Given the description of an element on the screen output the (x, y) to click on. 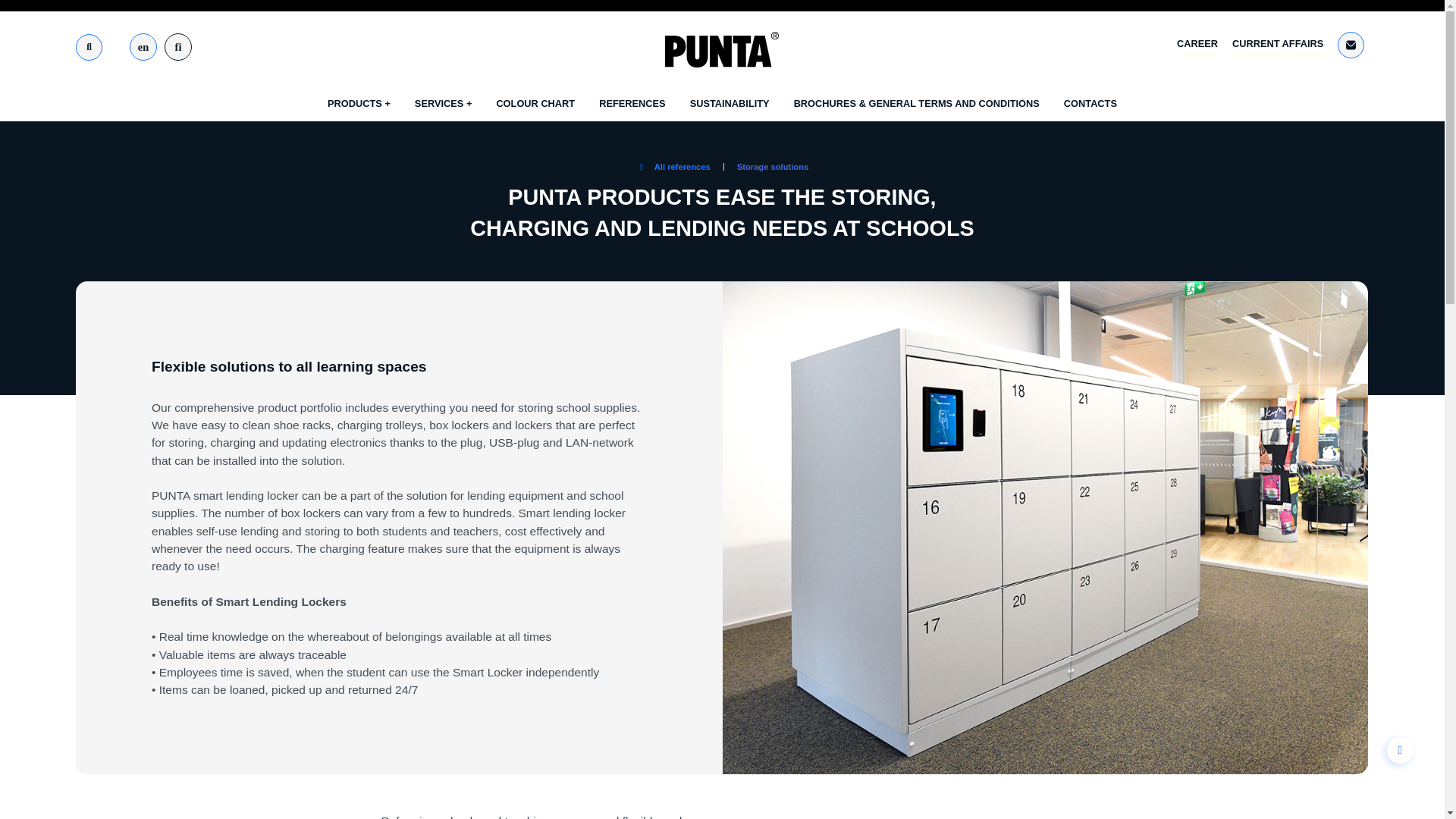
All references (673, 166)
COLOUR CHART (535, 103)
CAREER (1196, 45)
REFERENCES (631, 103)
CONTACTS (1090, 103)
fi (178, 46)
SUSTAINABILITY (730, 103)
CURRENT AFFAIRS (1277, 45)
Storage solutions (772, 166)
en (143, 46)
